Given the description of an element on the screen output the (x, y) to click on. 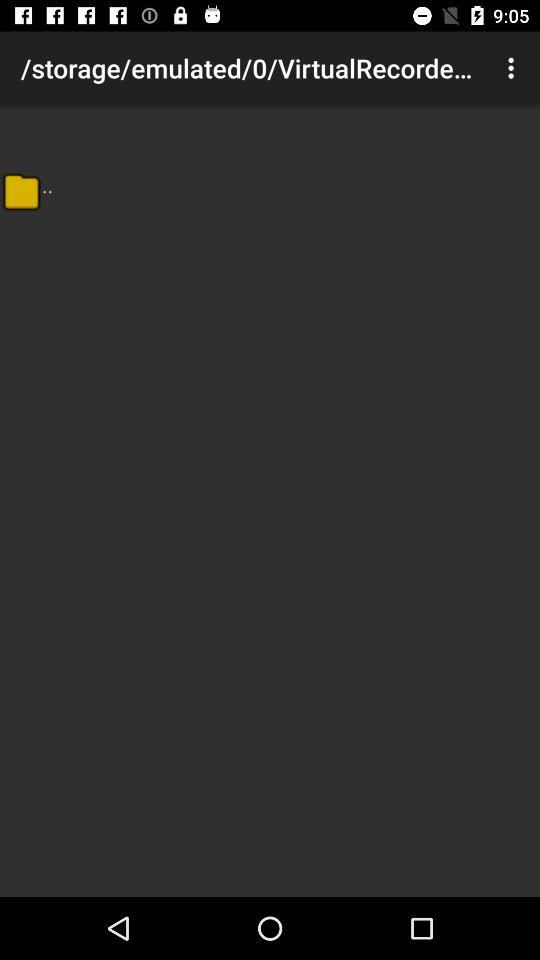
turn on the icon at the top right corner (513, 67)
